Given the description of an element on the screen output the (x, y) to click on. 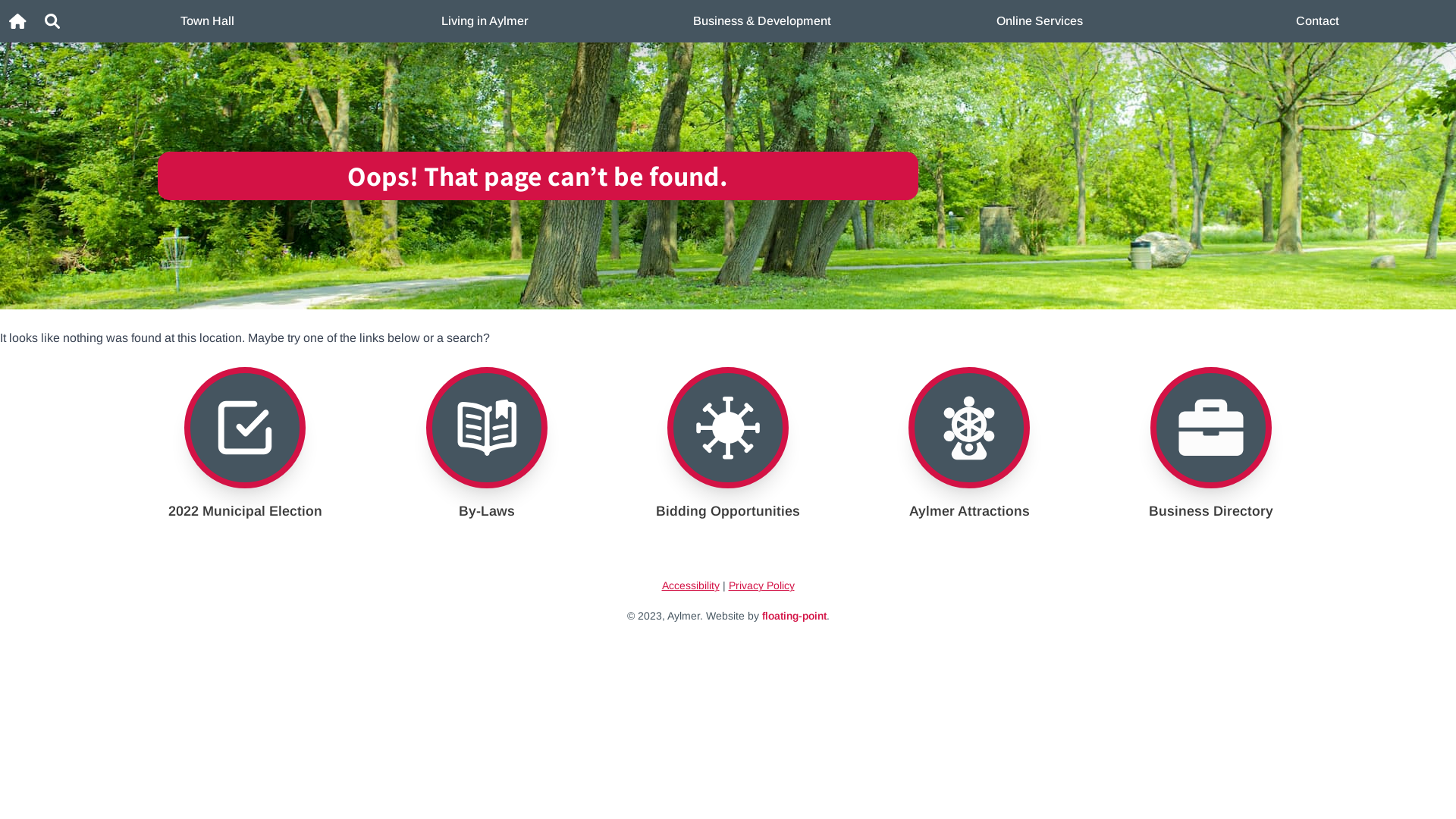
Town Hall Element type: text (206, 21)
floating-point Element type: text (793, 615)
Aylmer Attractions Element type: text (968, 444)
Accessibility Element type: text (689, 585)
Home Element type: text (17, 20)
Bidding Opportunities Element type: text (727, 444)
2022 Municipal Election Element type: text (244, 444)
By-Laws Element type: text (485, 444)
Business & Development Element type: text (761, 21)
Search Element type: text (51, 20)
Online Services Element type: text (1039, 21)
Living in Aylmer Element type: text (484, 21)
Business Directory Element type: text (1210, 444)
Privacy Policy Element type: text (760, 585)
